Given the description of an element on the screen output the (x, y) to click on. 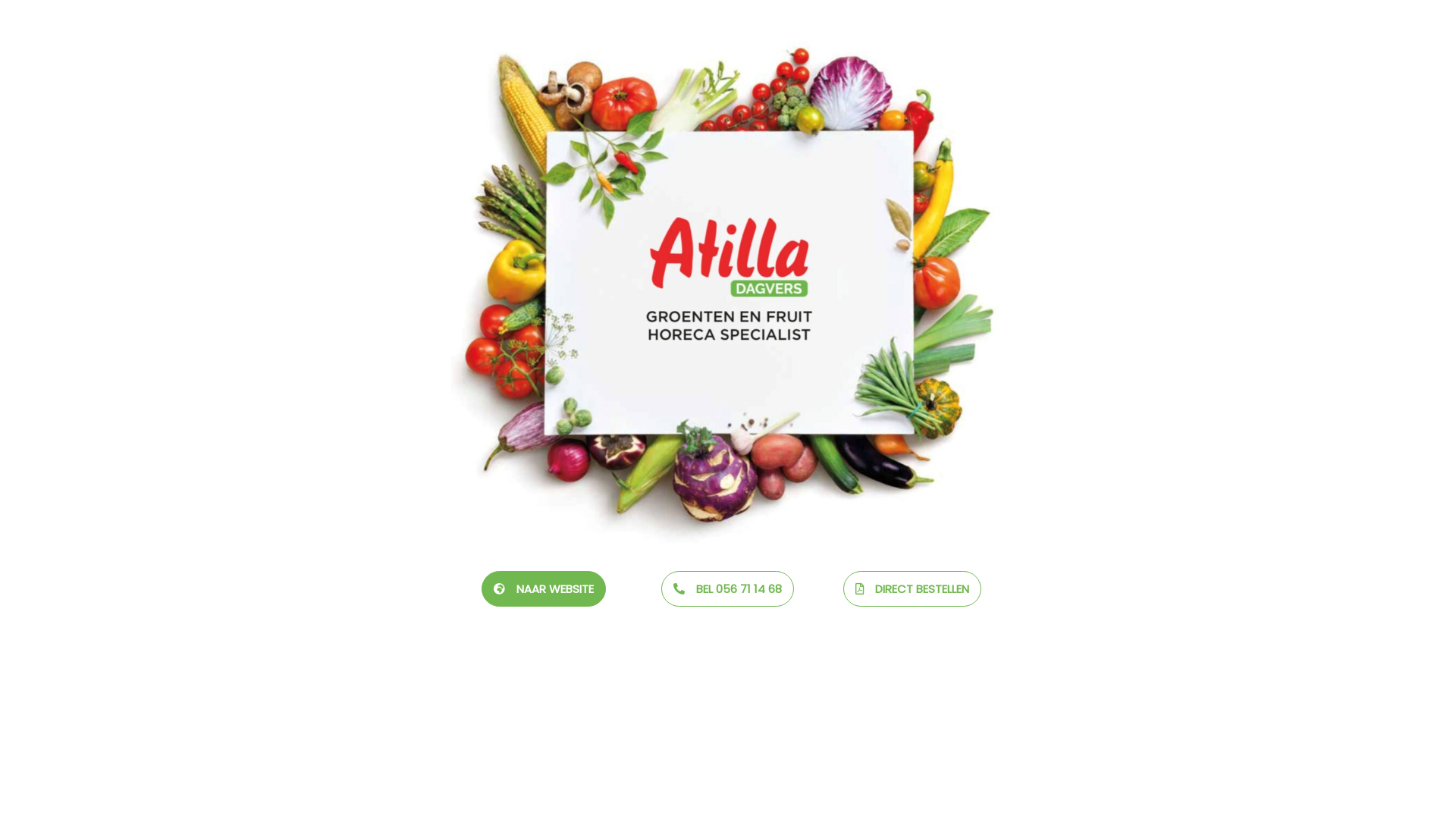
NAAR WEBSITE Element type: text (543, 588)
BEL 056 71 14 68 Element type: text (727, 588)
DIRECT BESTELLEN Element type: text (912, 588)
